Given the description of an element on the screen output the (x, y) to click on. 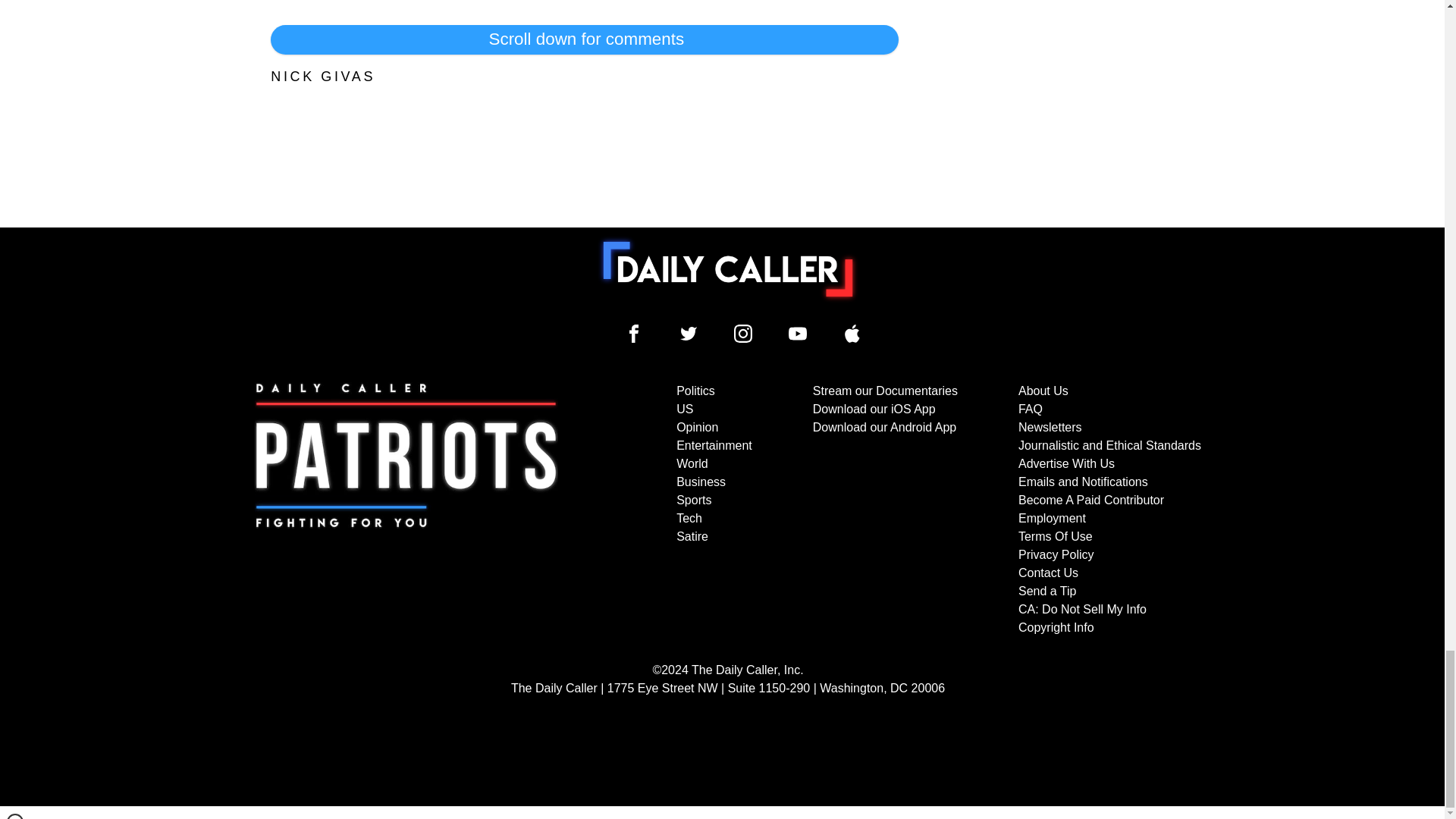
Subscribe to The Daily Caller (405, 509)
Daily Caller Twitter (688, 333)
Daily Caller Instagram (742, 333)
To home page (727, 268)
Daily Caller YouTube (797, 333)
Daily Caller Facebook (633, 333)
Scroll down for comments (584, 39)
Daily Caller YouTube (852, 333)
